Given the description of an element on the screen output the (x, y) to click on. 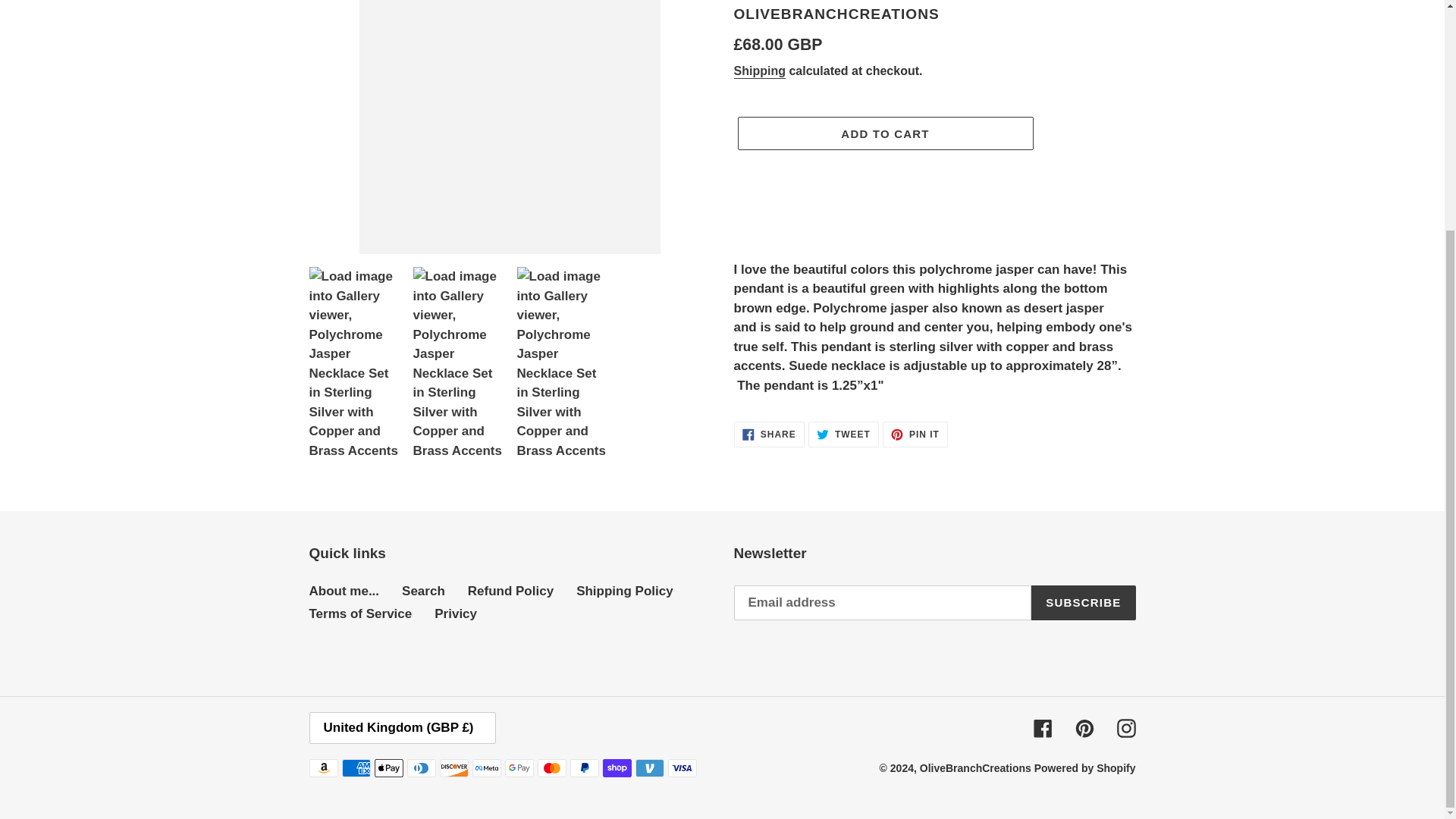
Pinterest (1084, 727)
Instagram (1125, 727)
Shipping Policy (624, 590)
Refund Policy (510, 590)
Terms of Service (914, 434)
SUBSCRIBE (360, 613)
Shipping (1082, 602)
Privicy (759, 71)
About me... (769, 434)
ADD TO CART (843, 434)
Search (455, 613)
Facebook (344, 590)
